Given the description of an element on the screen output the (x, y) to click on. 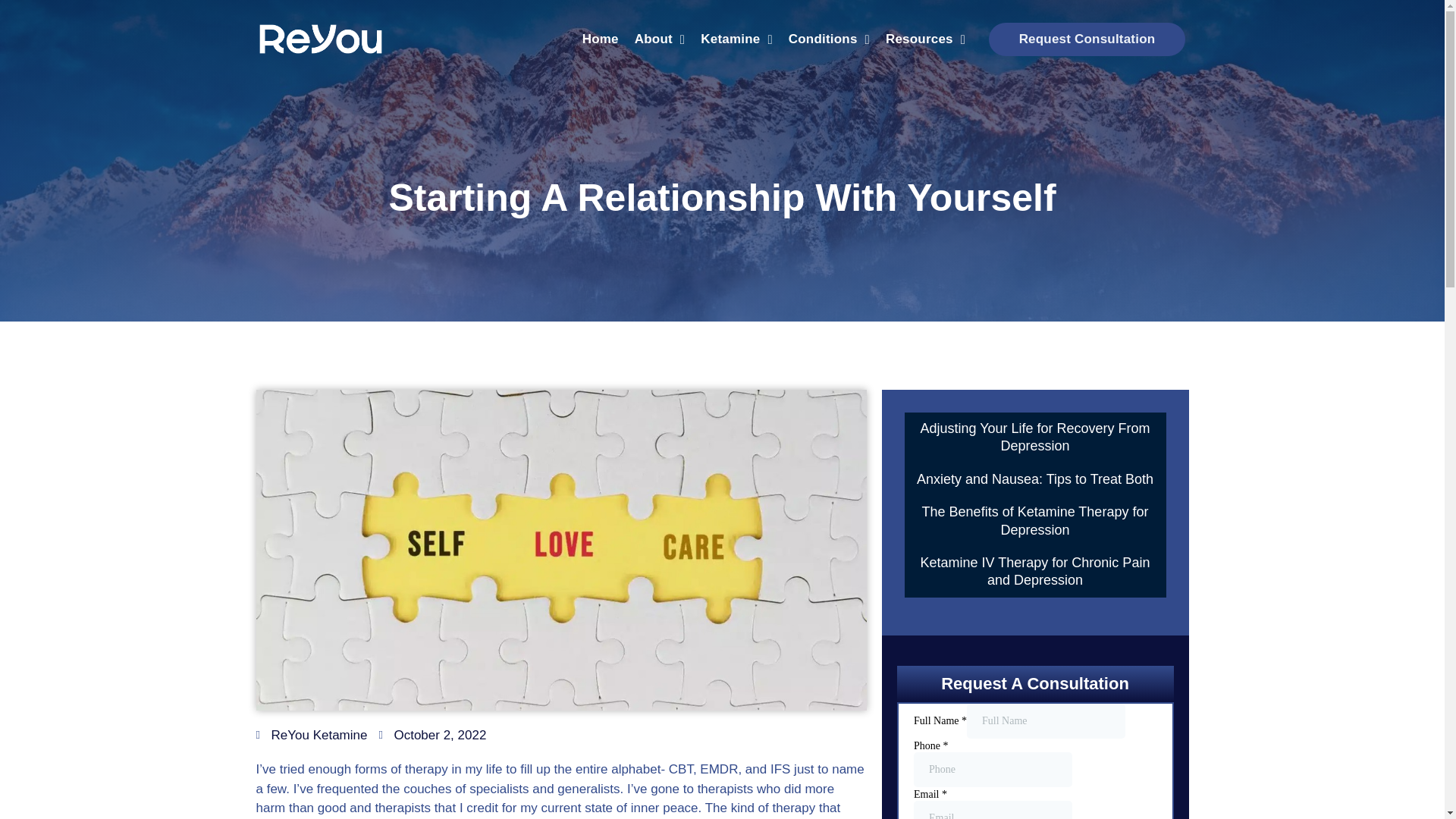
About (659, 39)
Home (600, 39)
Request Consultation (1087, 39)
Website Consultation Form - Sidebar (1035, 761)
Conditions (829, 39)
Ketamine (736, 39)
Resources (925, 39)
